Given the description of an element on the screen output the (x, y) to click on. 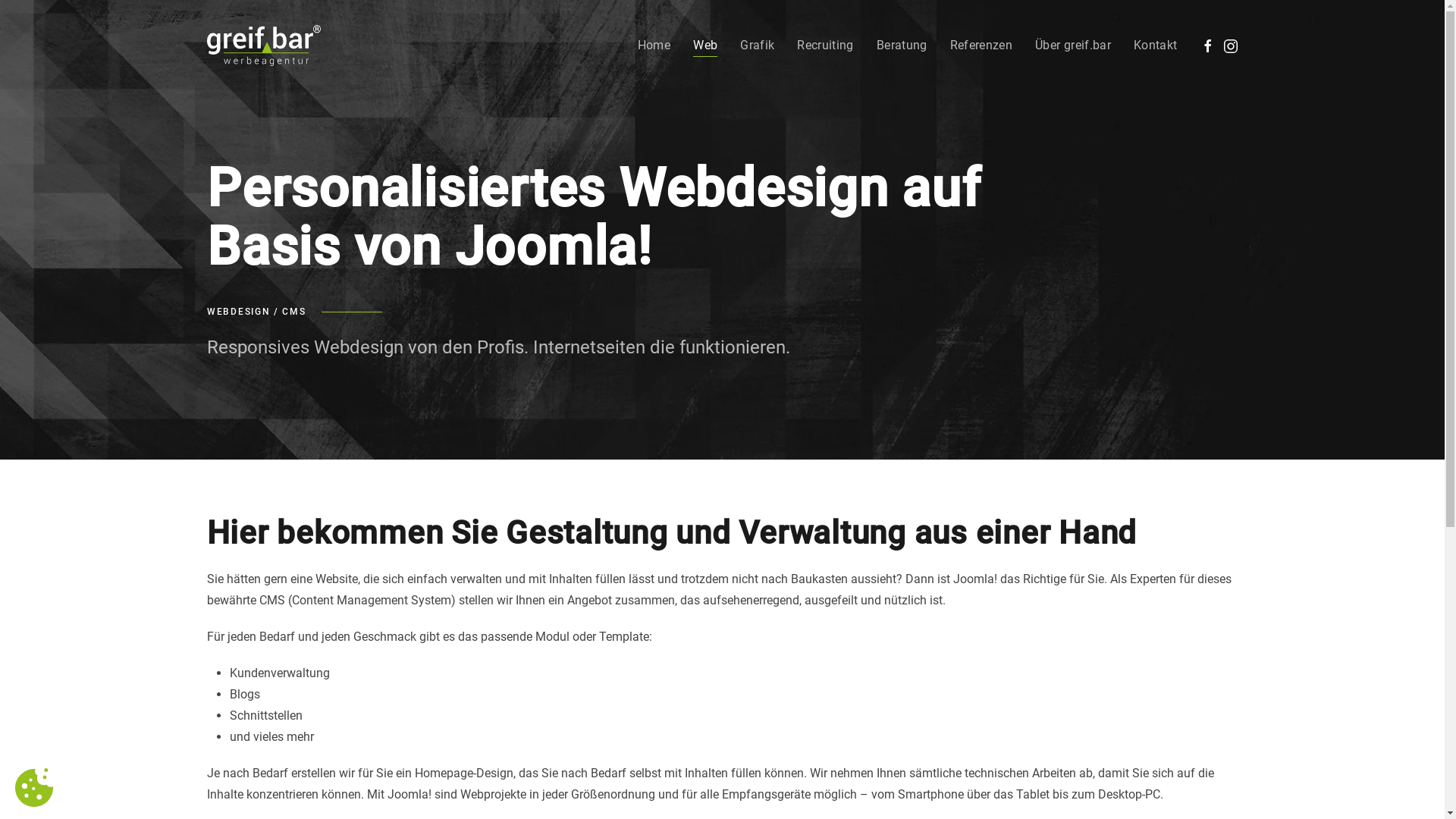
Home Element type: text (653, 45)
Web Element type: text (705, 45)
Recruiting Element type: text (825, 45)
Beratung Element type: text (901, 45)
Referenzen Element type: text (981, 45)
Grafik Element type: text (757, 45)
Kontakt Element type: text (1154, 45)
